Given the description of an element on the screen output the (x, y) to click on. 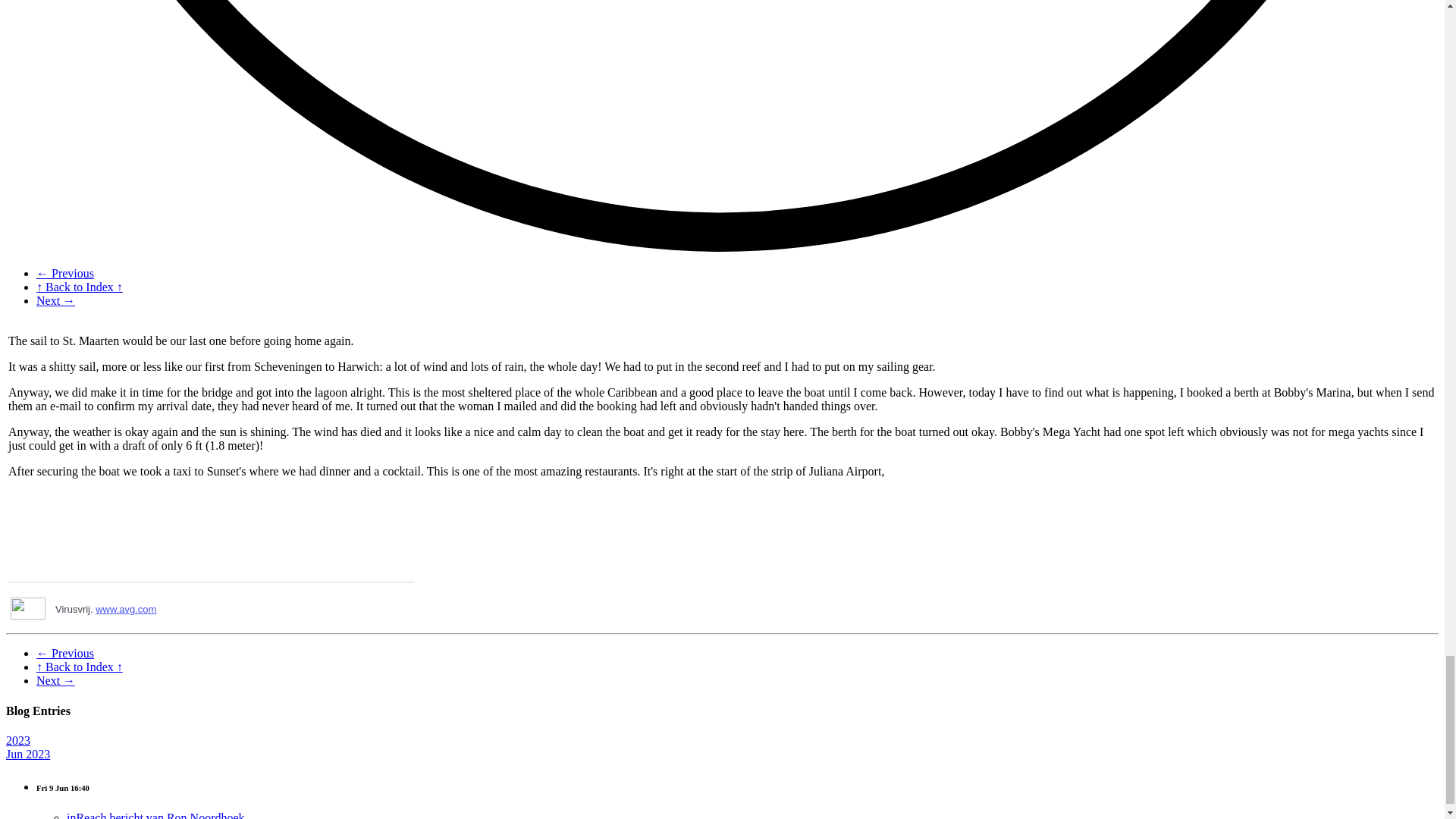
Jun 2023 (27, 753)
2023 (17, 739)
www.avg.com (125, 609)
